Given the description of an element on the screen output the (x, y) to click on. 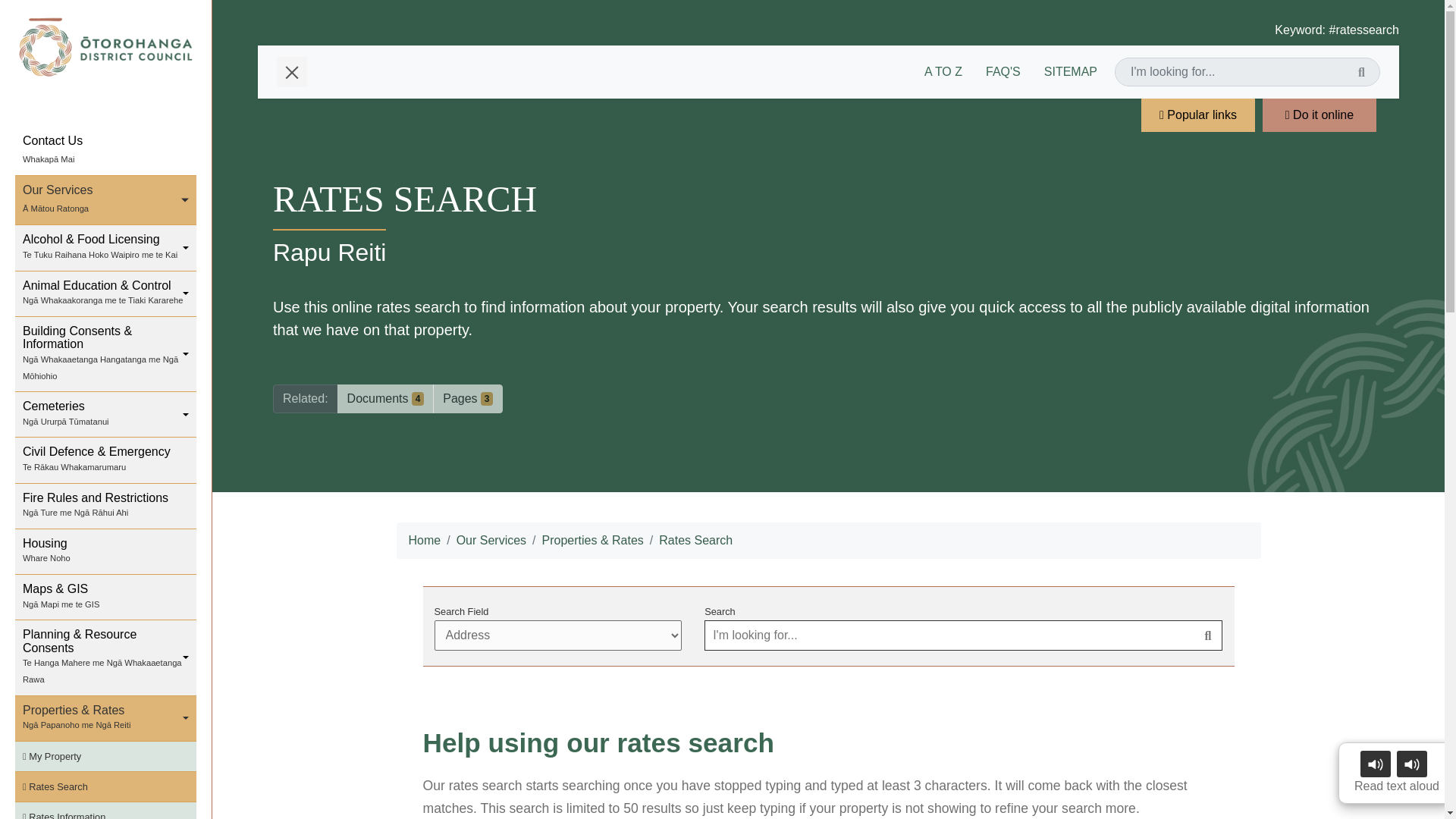
Contact Us (105, 551)
Go to home page.  (105, 151)
Our Services (105, 47)
